Given the description of an element on the screen output the (x, y) to click on. 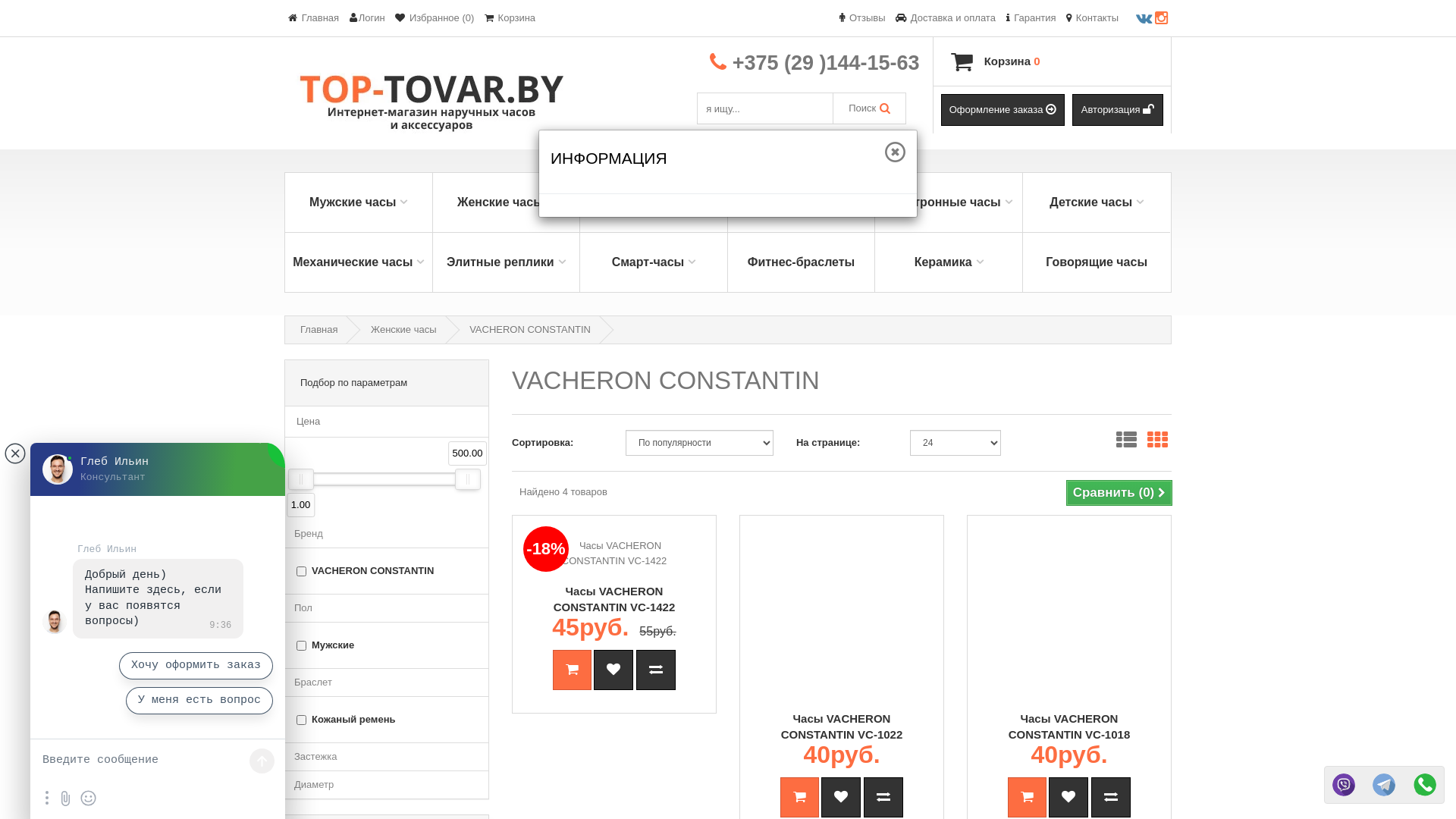
+375 (29 )144-15-63 Element type: text (825, 62)
VACHERON CONSTANTIN Element type: text (529, 329)
